Given the description of an element on the screen output the (x, y) to click on. 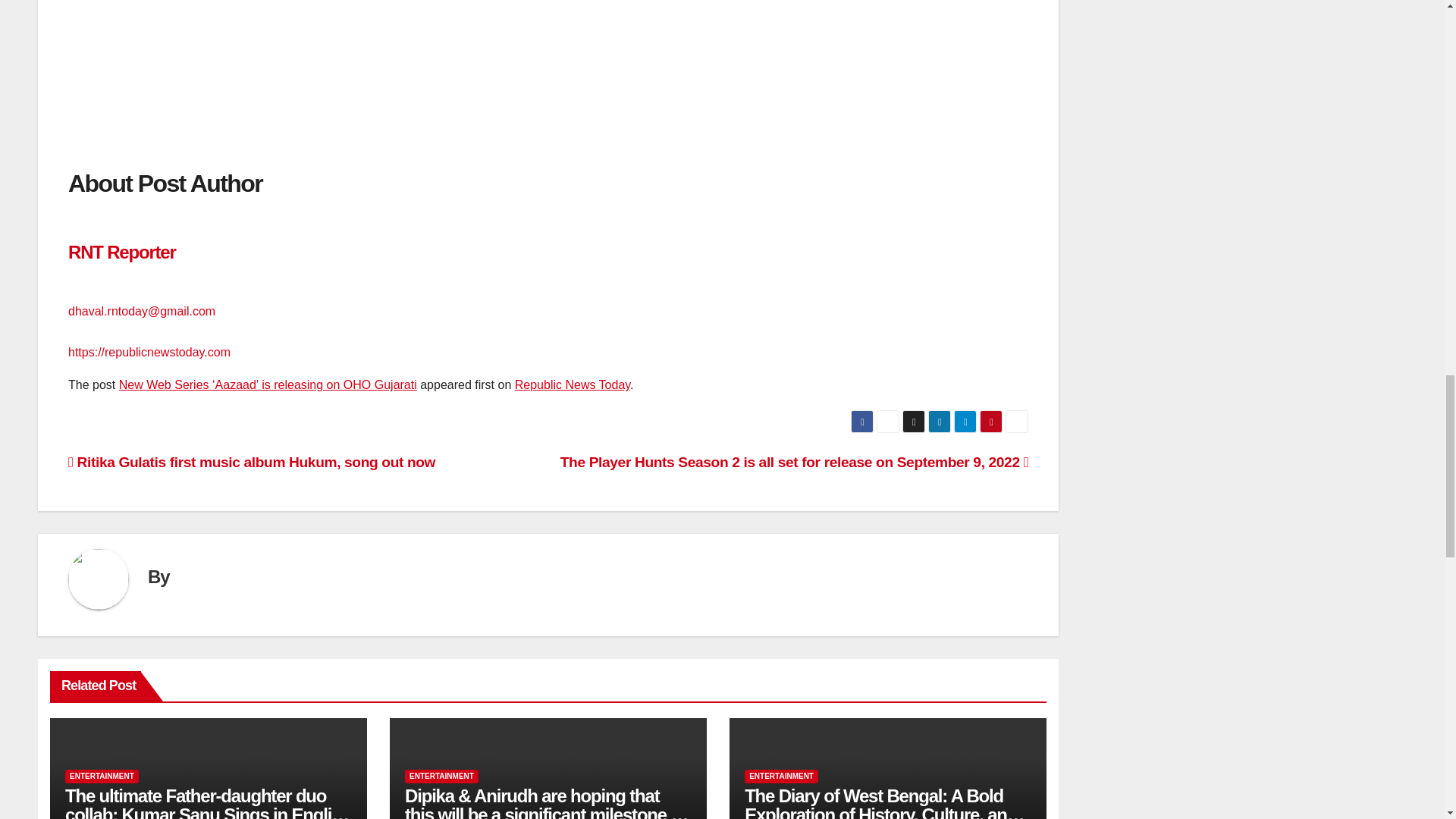
RNT Reporter (122, 263)
Ritika Gulatis first music album Hukum, song out now (251, 462)
Republic News Today (572, 384)
